Given the description of an element on the screen output the (x, y) to click on. 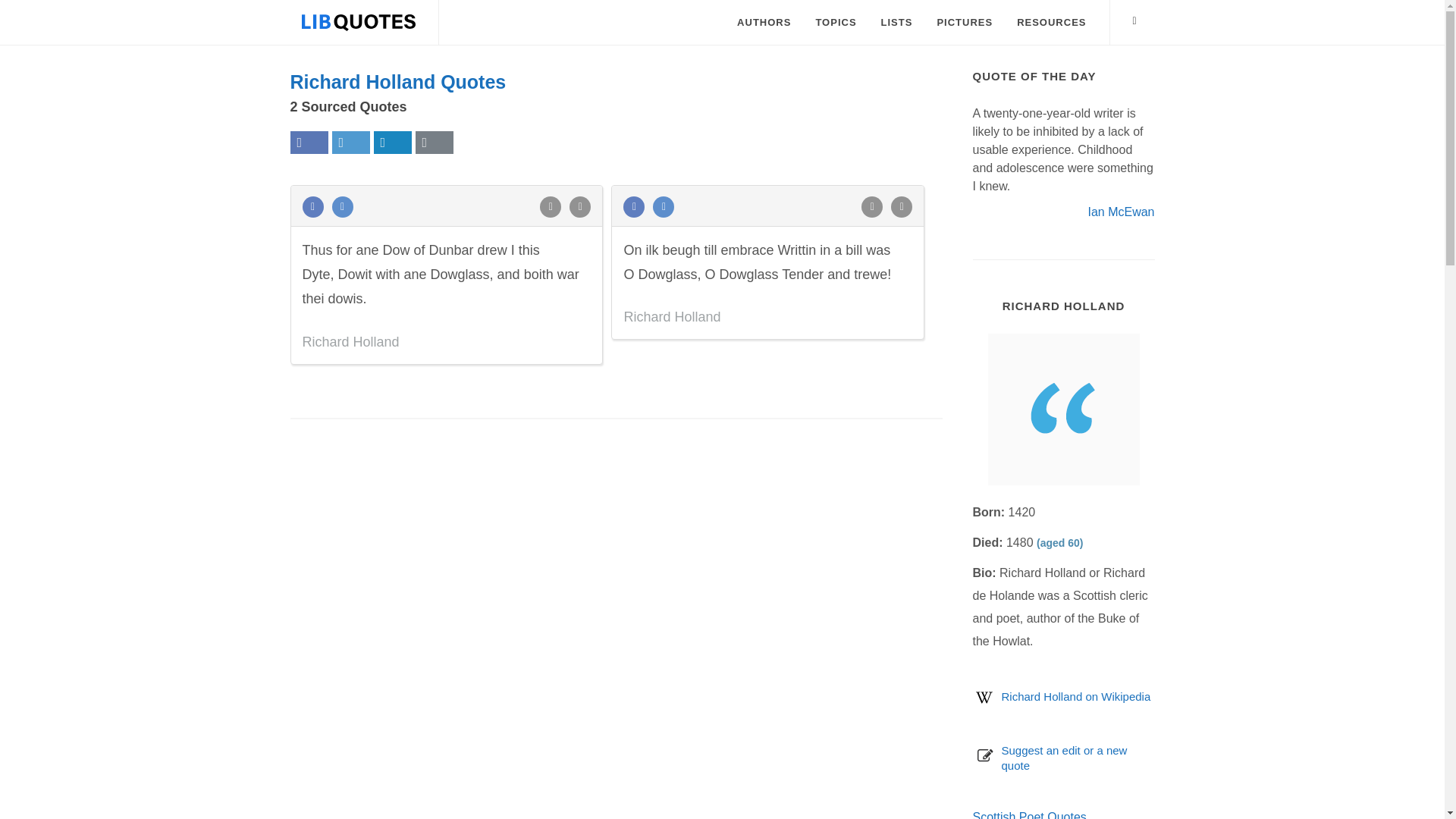
RESOURCES (1051, 22)
PICTURES (964, 22)
Suggest an edit or a new quote (1063, 757)
TOPICS (835, 22)
Scottish Poet Quotes (1029, 814)
Richard Holland on Wikipedia (1075, 696)
Ian McEwan (1120, 210)
AUTHORS (763, 22)
LISTS (896, 22)
